Given the description of an element on the screen output the (x, y) to click on. 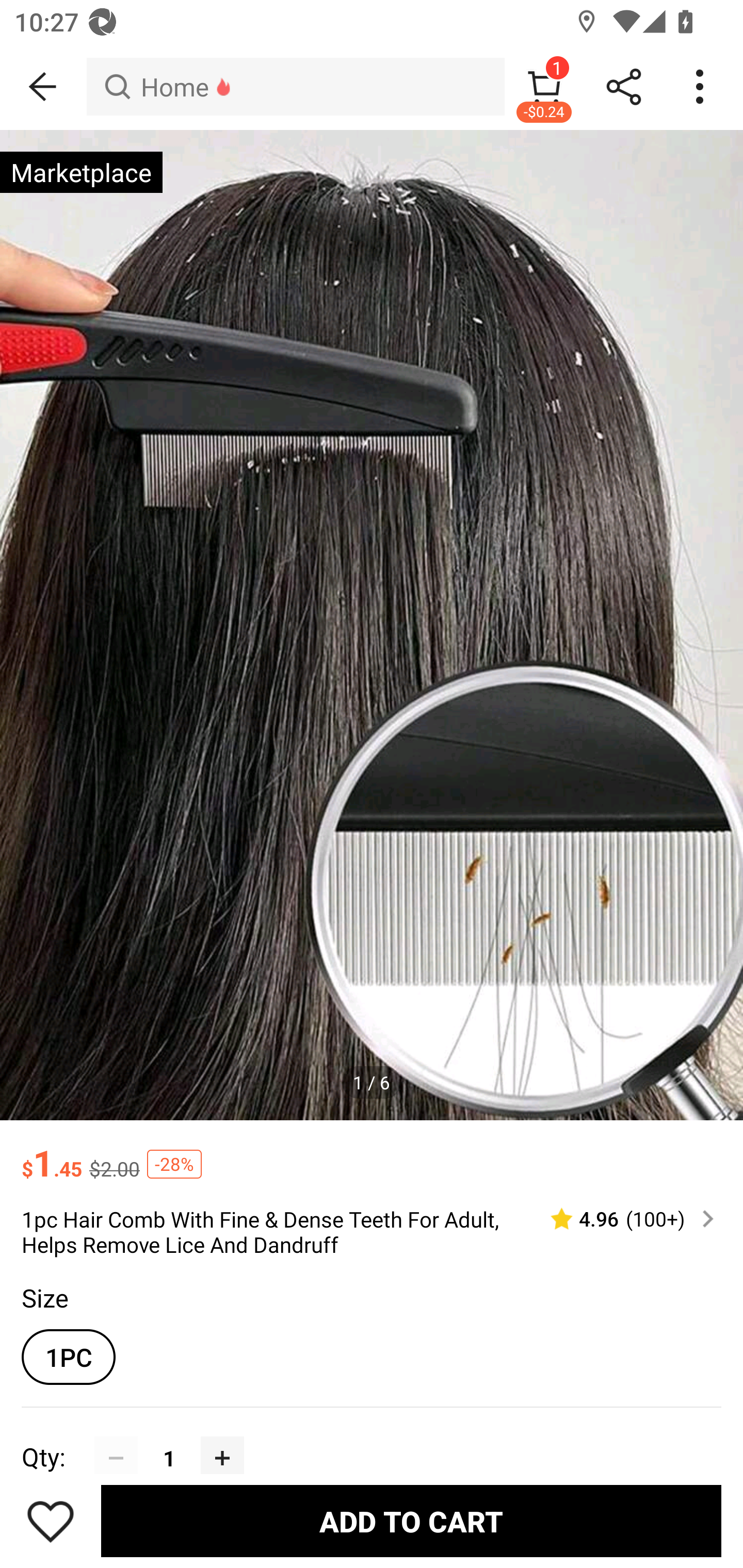
BACK (43, 86)
1 -$0.24 (543, 87)
Home (295, 87)
1 / 6 (371, 1082)
$1.45 $2.00 -28% (371, 1152)
4.96 (100‎+) (623, 1219)
Size (44, 1297)
1PC 1PCselected option (68, 1356)
Qty: 1 (371, 1432)
ADD TO CART (411, 1520)
Save (50, 1520)
